Given the description of an element on the screen output the (x, y) to click on. 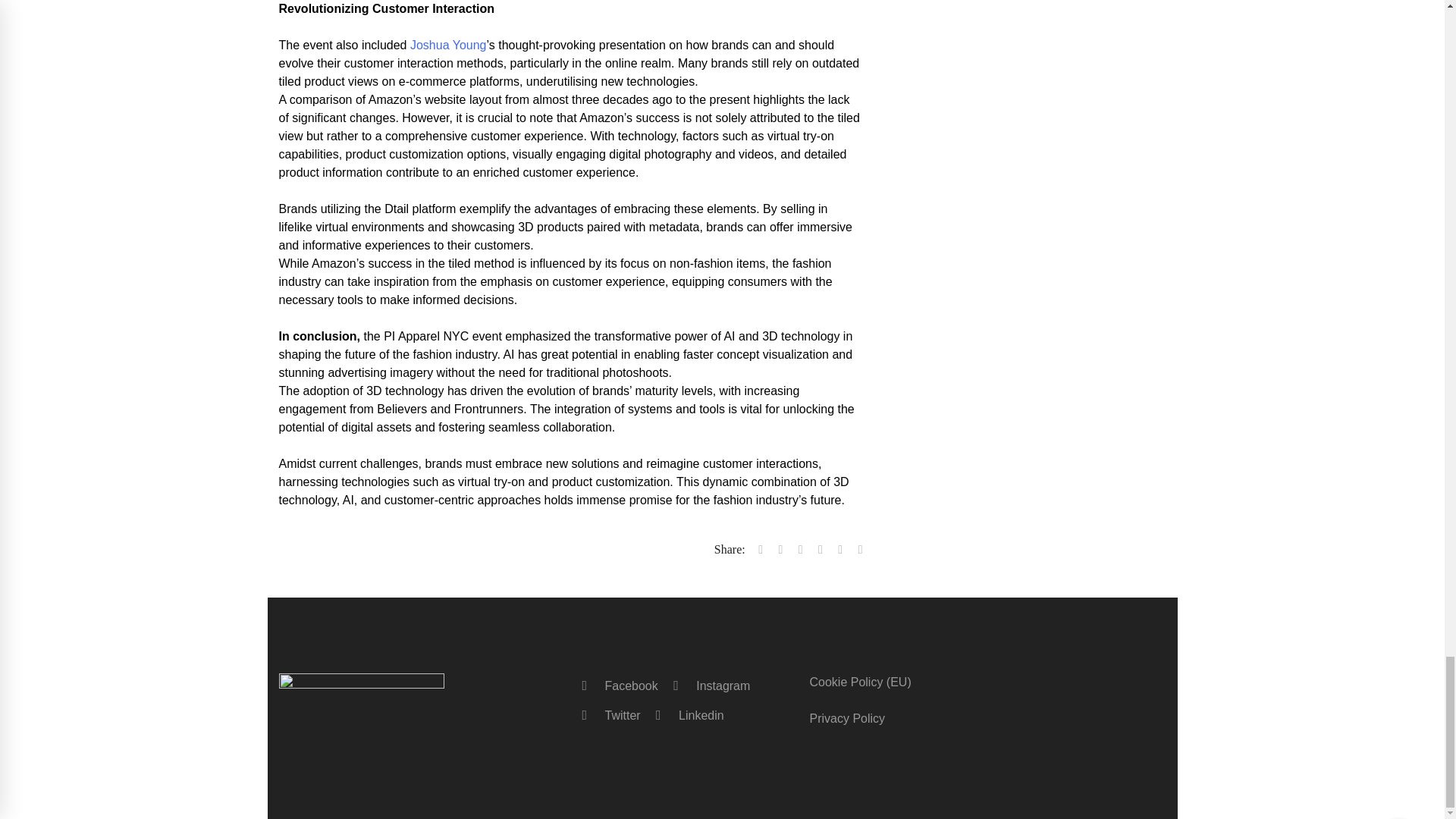
logo-white-medium (361, 688)
Joshua Young (448, 44)
